Given the description of an element on the screen output the (x, y) to click on. 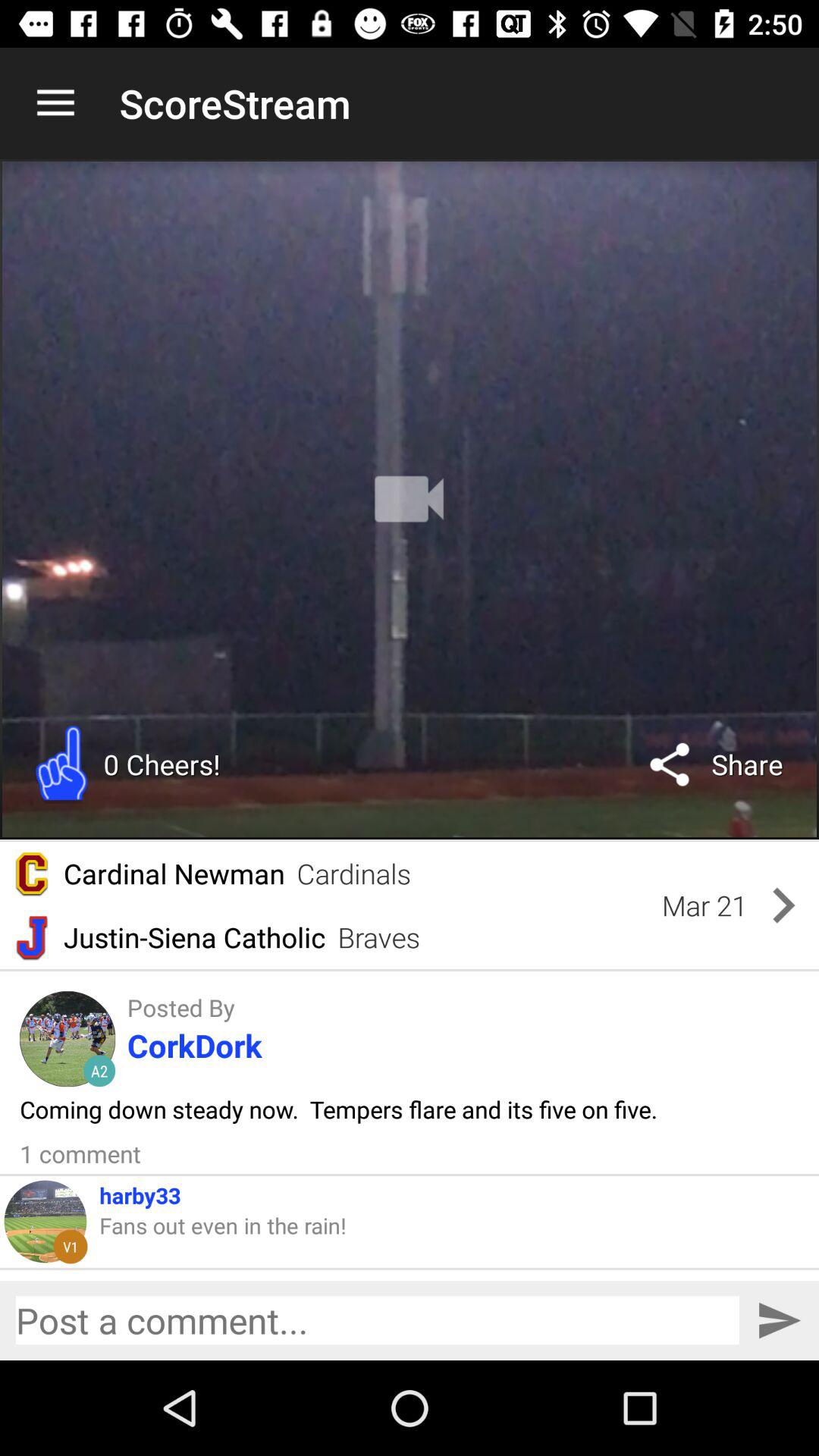
jump to the 0 cheers! item (161, 764)
